Given the description of an element on the screen output the (x, y) to click on. 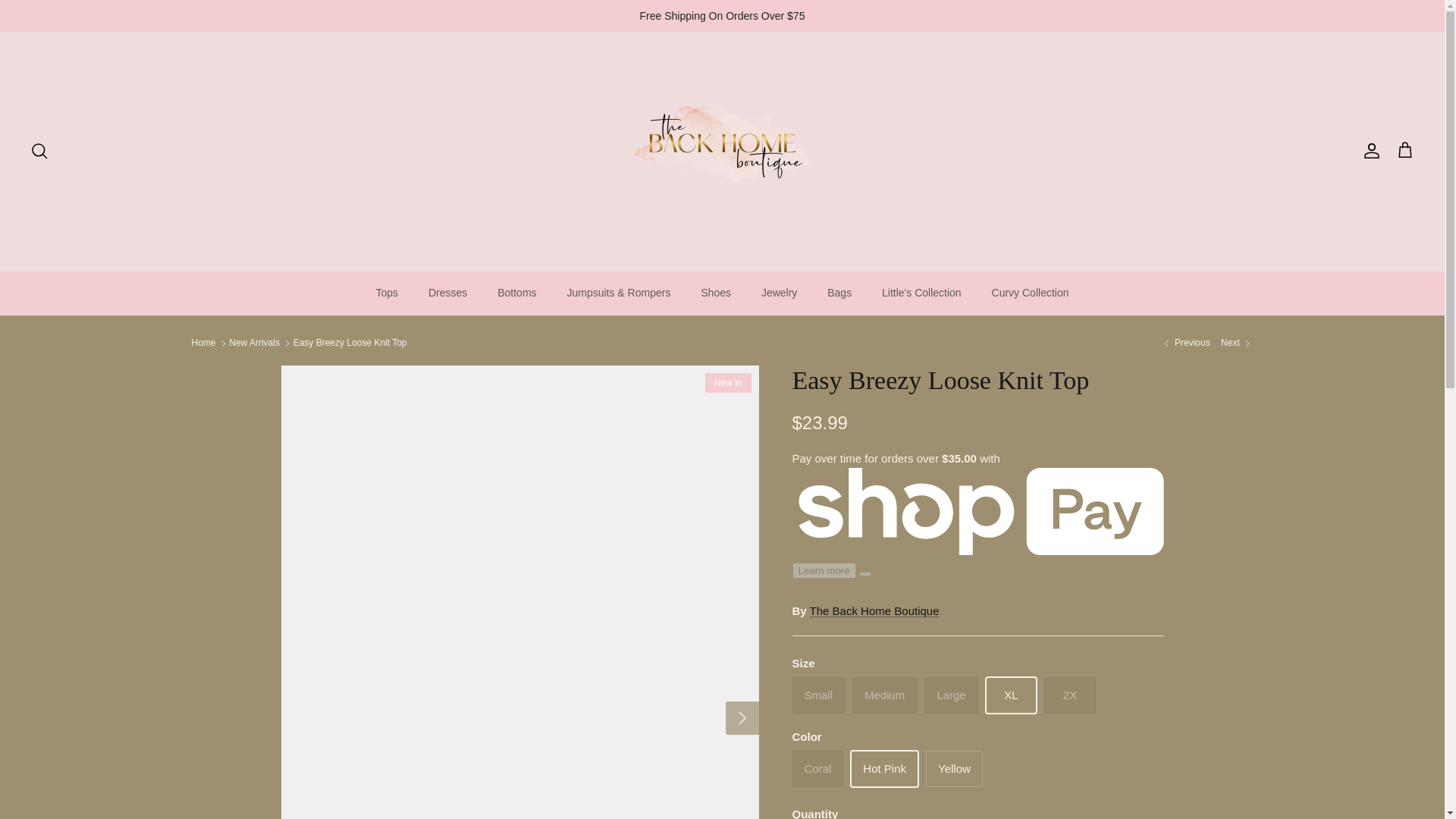
Tops (386, 292)
Bags (838, 292)
Search (39, 150)
Dresses (447, 292)
Flower Power Color Block Sweater (1236, 342)
The Back Home Boutique (722, 150)
Curvy Collection (1030, 292)
Shoes (715, 292)
Bottoms (516, 292)
Little's Collection (921, 292)
Jewelry (779, 292)
Cart (1404, 150)
RIGHT (741, 717)
Pink Wishes Satin Pleated Top (1184, 342)
Account (1368, 150)
